Given the description of an element on the screen output the (x, y) to click on. 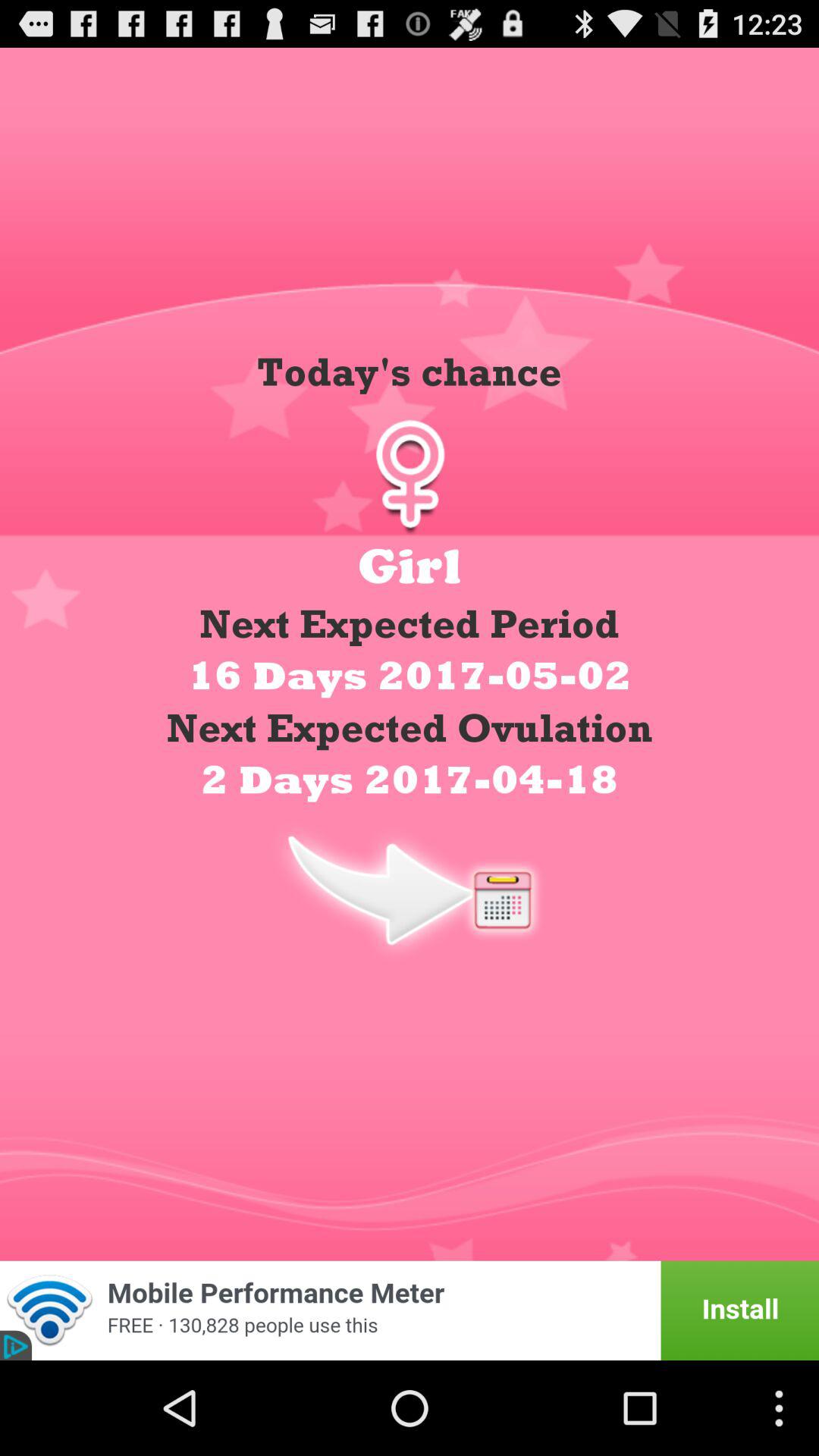
click on add (409, 1310)
